Given the description of an element on the screen output the (x, y) to click on. 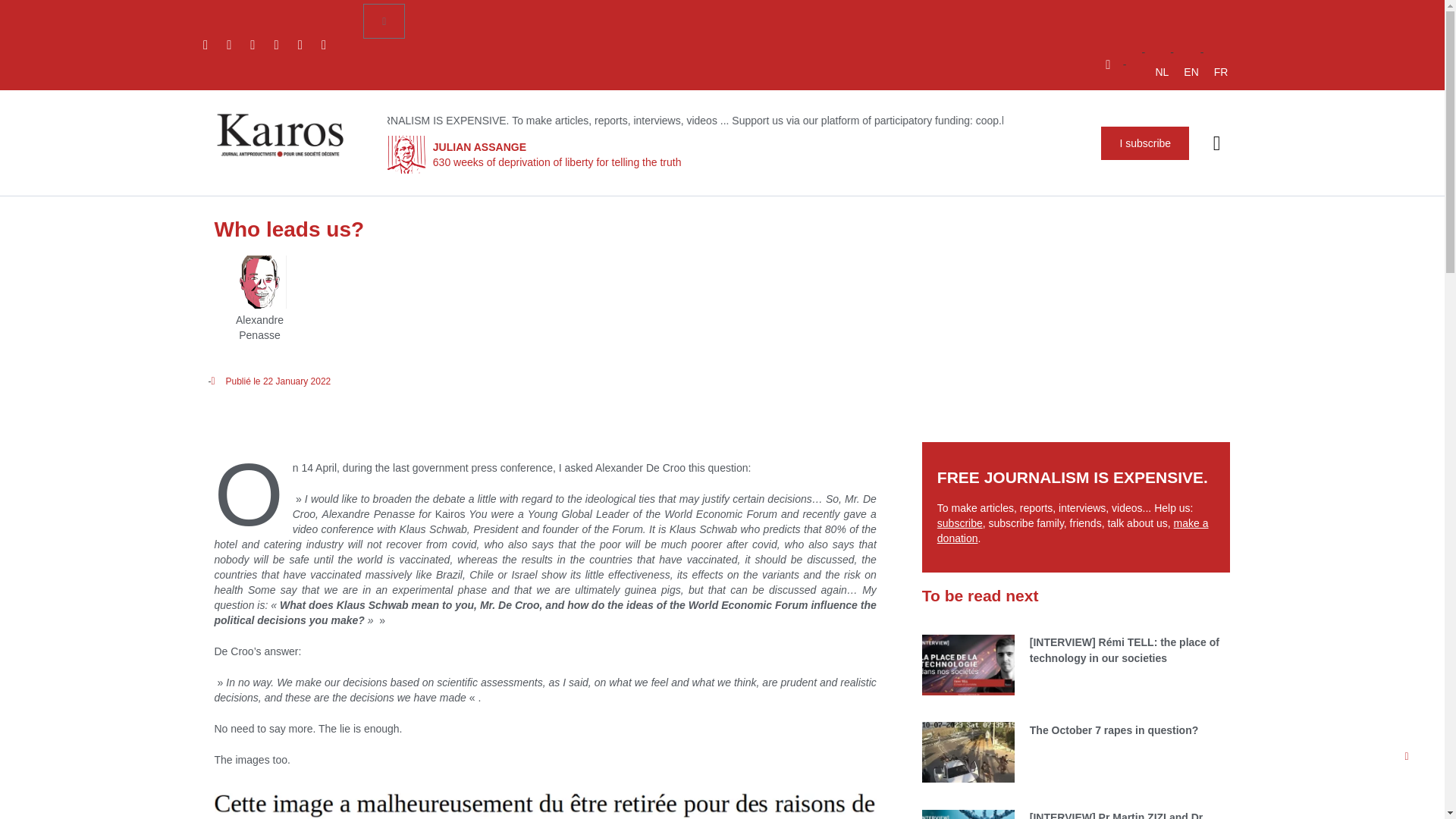
make a donation (1072, 530)
I subscribe (1144, 142)
subscribe (959, 522)
Alexandre Penasse (259, 319)
NL (1161, 71)
The October 7 rapes in question? (1113, 729)
EN (1190, 71)
FR (1221, 71)
